Given the description of an element on the screen output the (x, y) to click on. 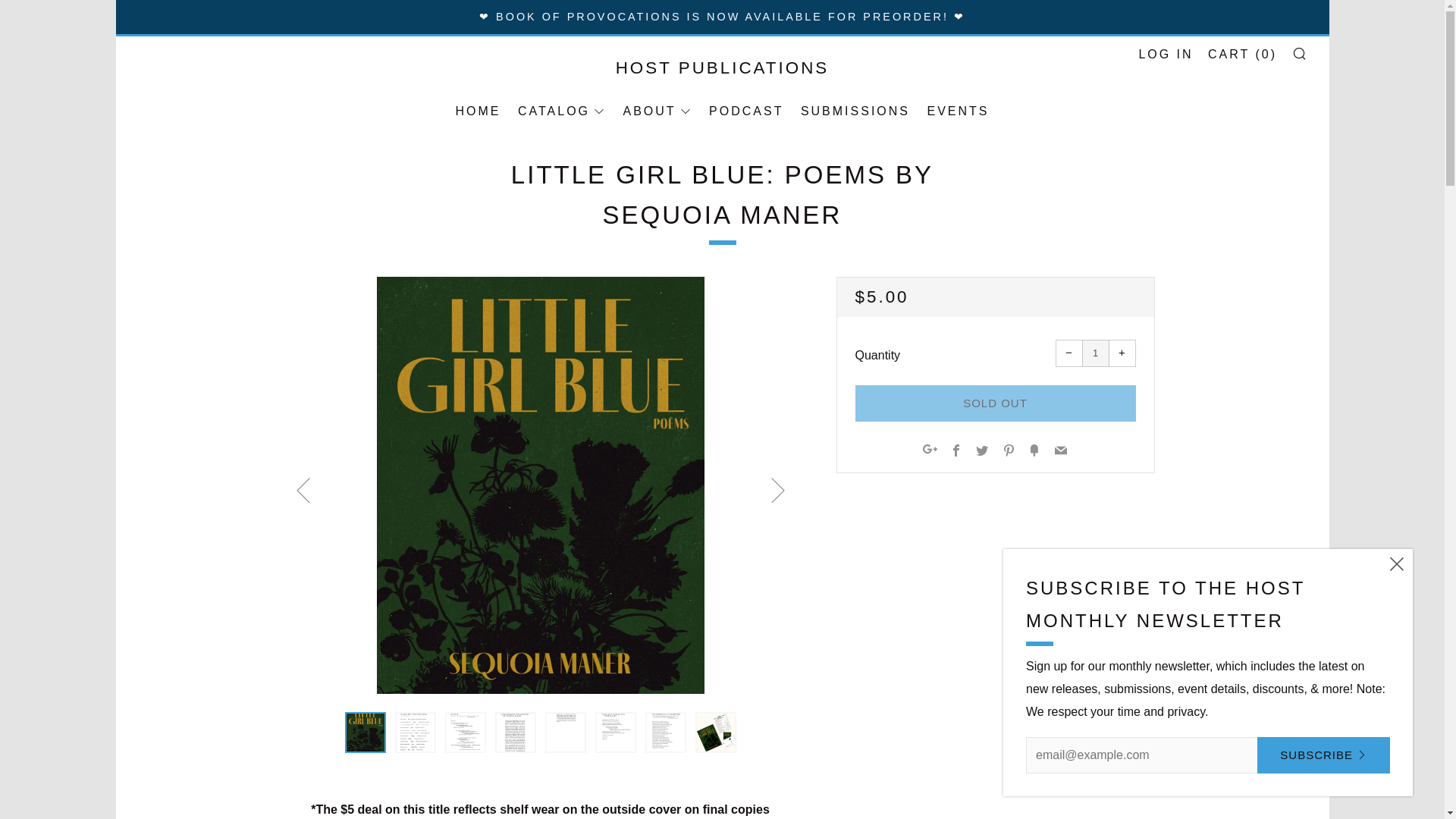
HOME (477, 110)
SUBMISSIONS (855, 110)
HOST PUBLICATIONS (721, 67)
CATALOG (561, 110)
ABOUT (658, 110)
PODCAST (746, 110)
1 (1094, 352)
